Given the description of an element on the screen output the (x, y) to click on. 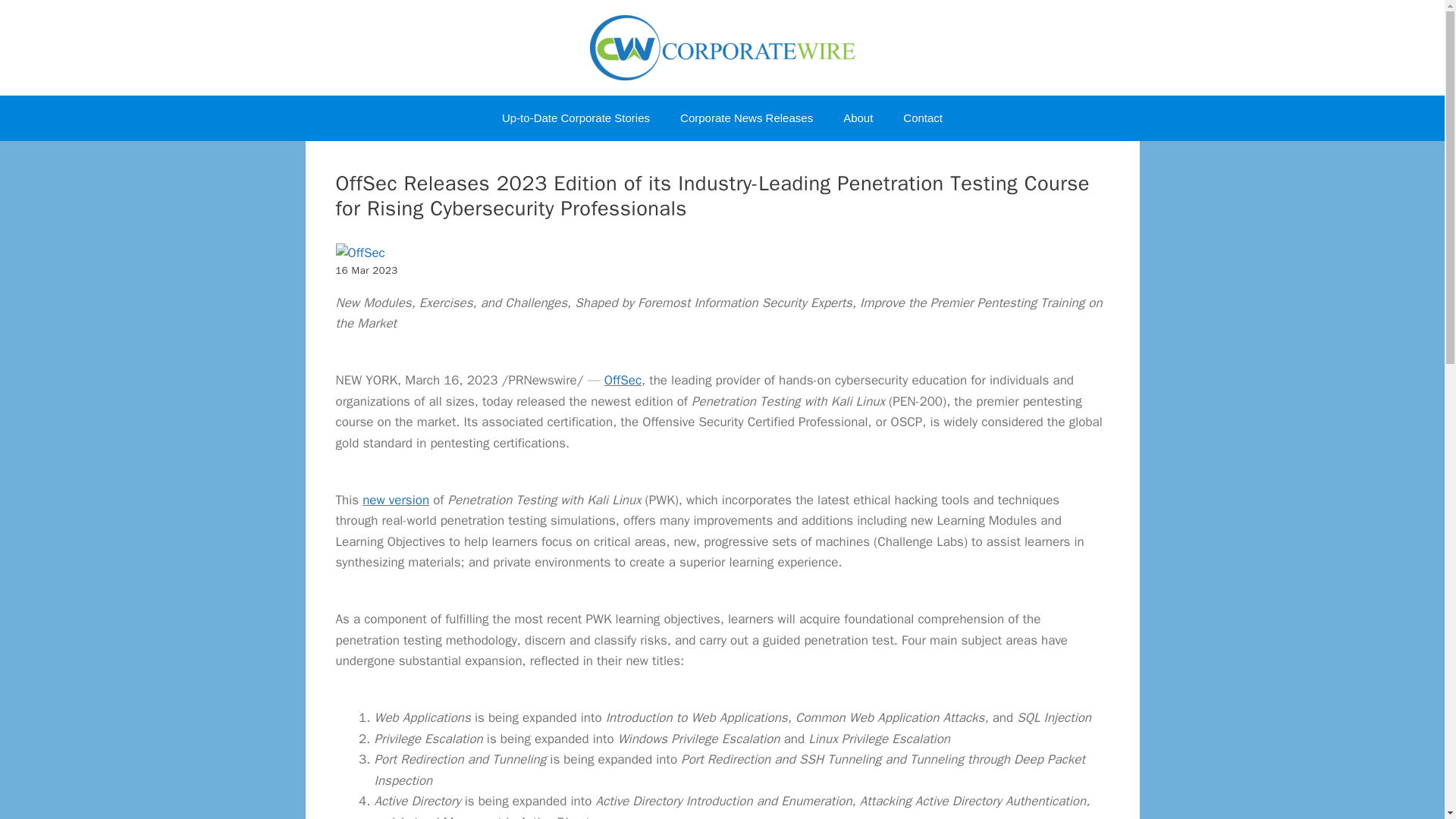
Contact (923, 117)
Up-to-Date Corporate Stories (575, 117)
About (858, 117)
OffSec (623, 380)
Corporate News Releases (746, 117)
OffSec (359, 252)
new version (395, 498)
